Given the description of an element on the screen output the (x, y) to click on. 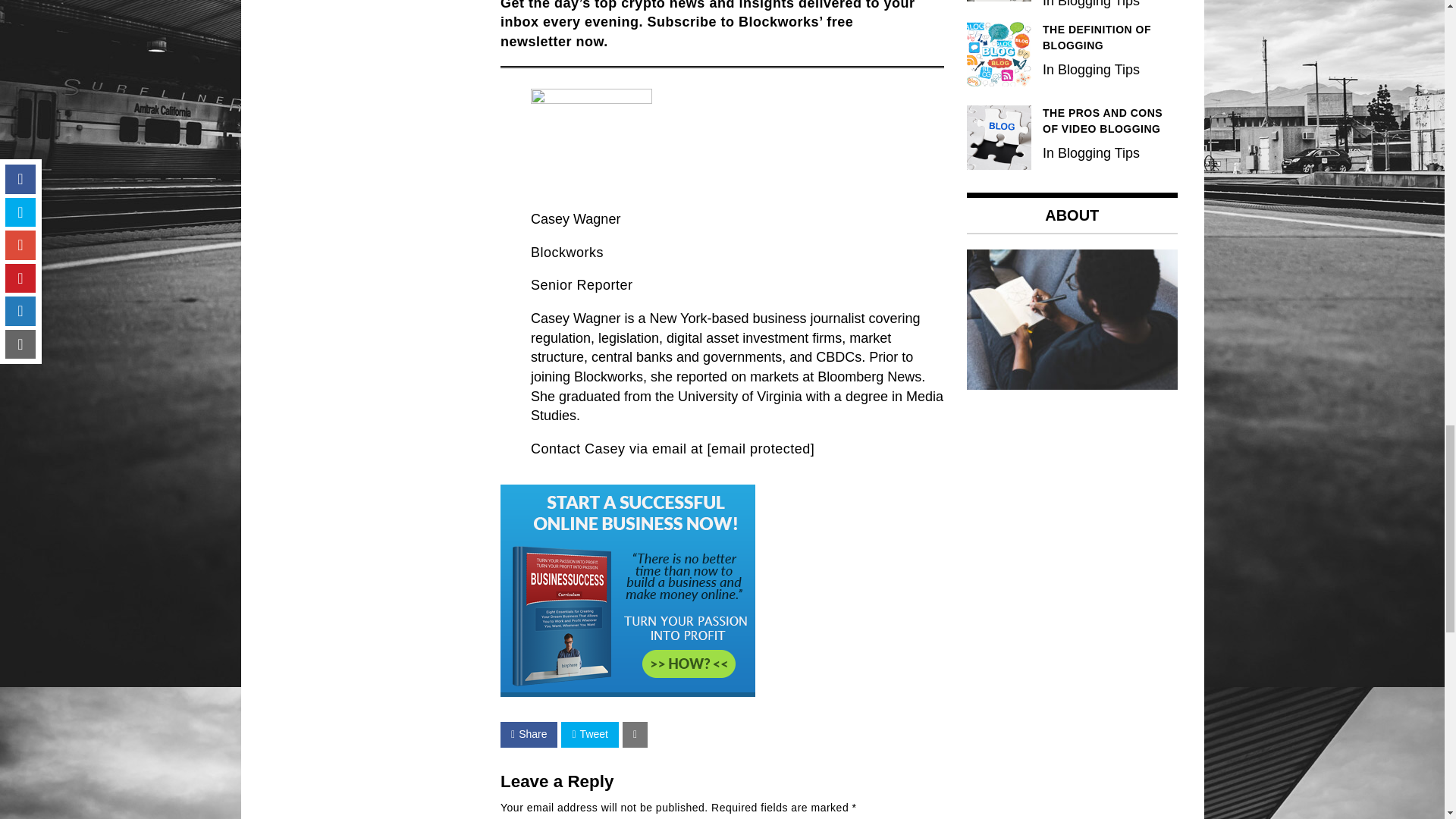
How to Start an Online Business (627, 692)
How to Start an Online Business (627, 590)
Tweet on Twitter (588, 734)
Share On Facebook (528, 734)
Share (528, 734)
Tweet (588, 734)
